Given the description of an element on the screen output the (x, y) to click on. 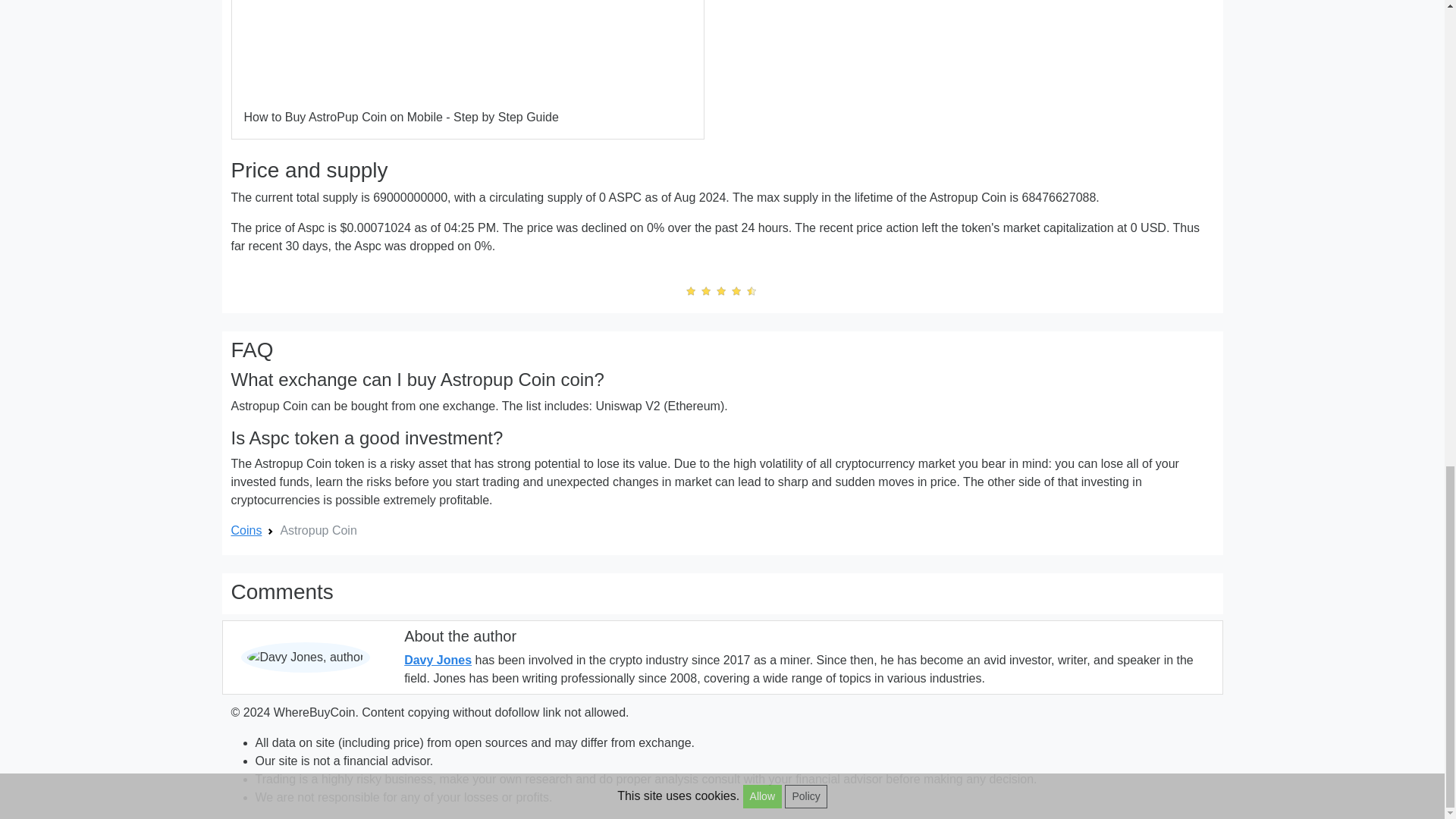
About Davy Jones (437, 659)
Coins (246, 530)
Davy Jones (437, 659)
